Given the description of an element on the screen output the (x, y) to click on. 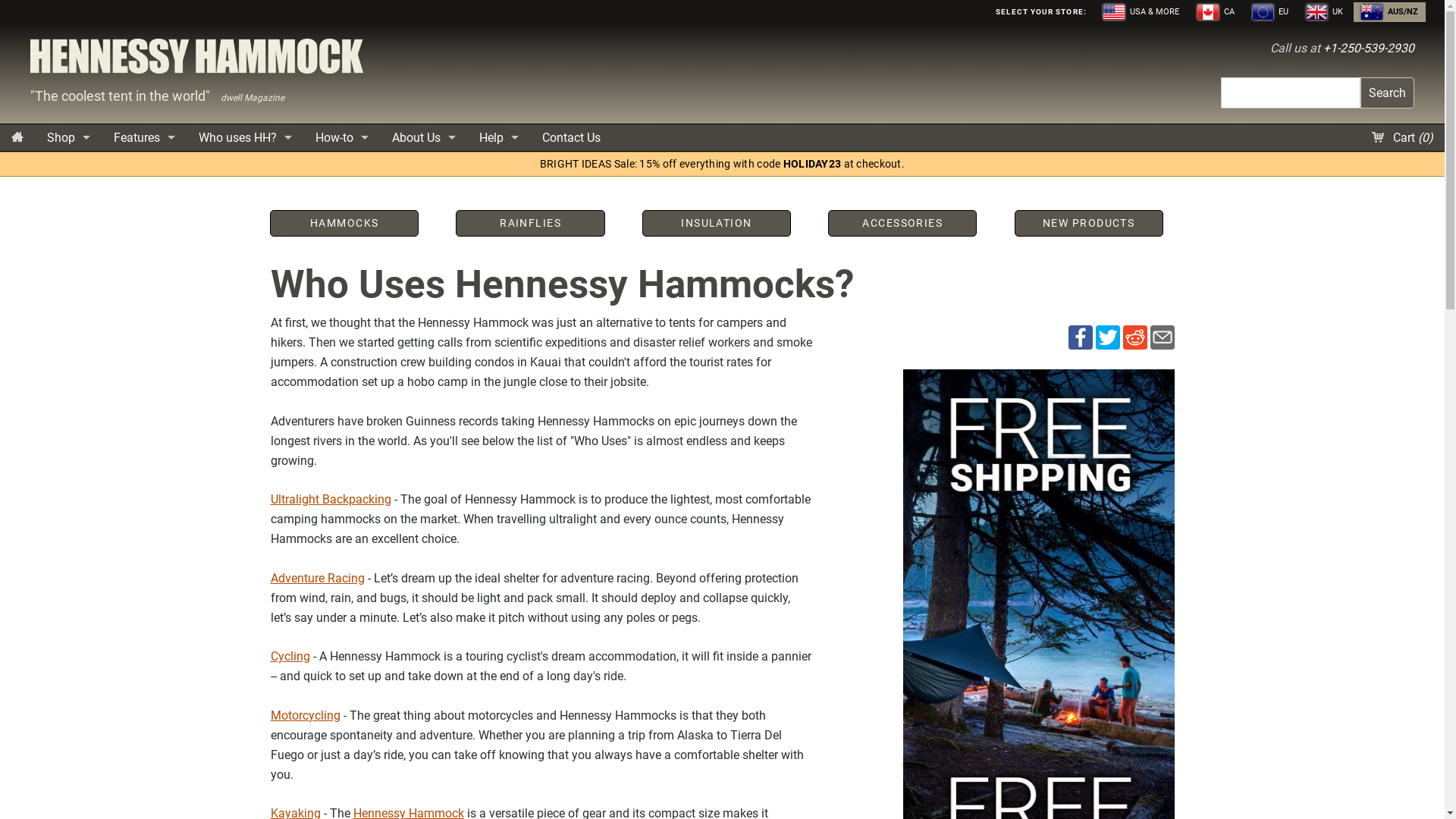
Send email Element type: hover (1161, 336)
INSULATION Element type: text (716, 223)
Tweet Element type: hover (1107, 336)
USA & MORE Element type: text (1141, 11)
+1-250-539-2930 Element type: text (1368, 47)
Adventure Racing Element type: text (316, 578)
Help Element type: text (498, 137)
Contact Us Element type: text (570, 137)
Motorcycling Element type: text (304, 715)
Share on Facebook Element type: hover (1079, 336)
Cart (0) Element type: text (1402, 137)
Search Element type: text (1387, 92)
ACCESSORIES Element type: text (902, 223)
Ultralight Backpacking Element type: text (329, 499)
Submit to Reddit Element type: hover (1134, 336)
About Us Element type: text (423, 137)
Cycling Element type: text (289, 656)
RAINFLIES Element type: text (529, 223)
Hennessy Hammock AUS Element type: hover (196, 59)
CA Element type: text (1215, 11)
UK Element type: text (1324, 11)
EU Element type: text (1270, 11)
Features Element type: text (144, 137)
Who uses HH? Element type: text (245, 137)
NEW PRODUCTS Element type: text (1088, 223)
home Element type: hover (17, 137)
HAMMOCKS Element type: text (344, 223)
How-to Element type: text (341, 137)
Shop Element type: text (68, 137)
